Given the description of an element on the screen output the (x, y) to click on. 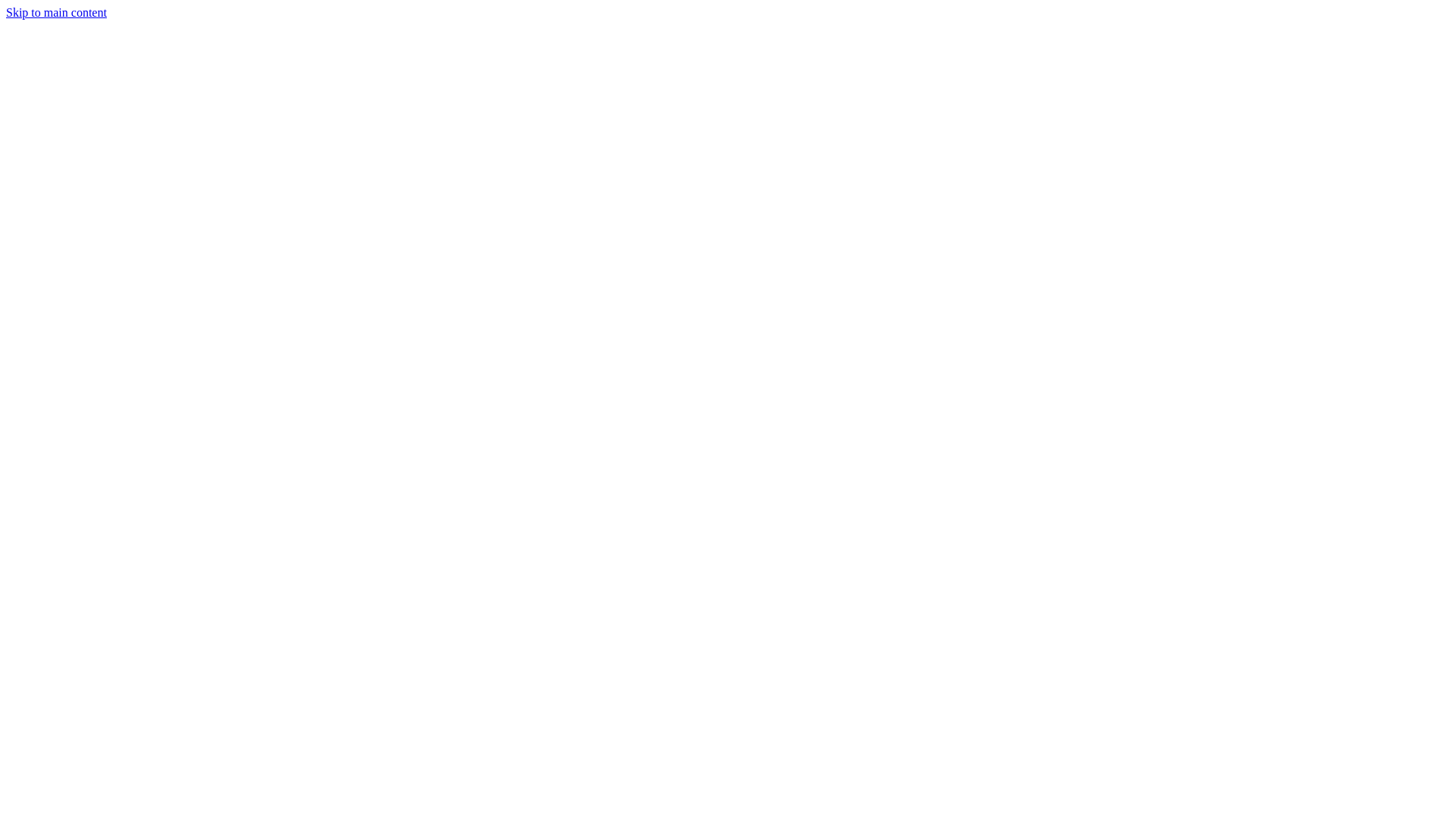
Skip to main content Element type: text (56, 12)
